Given the description of an element on the screen output the (x, y) to click on. 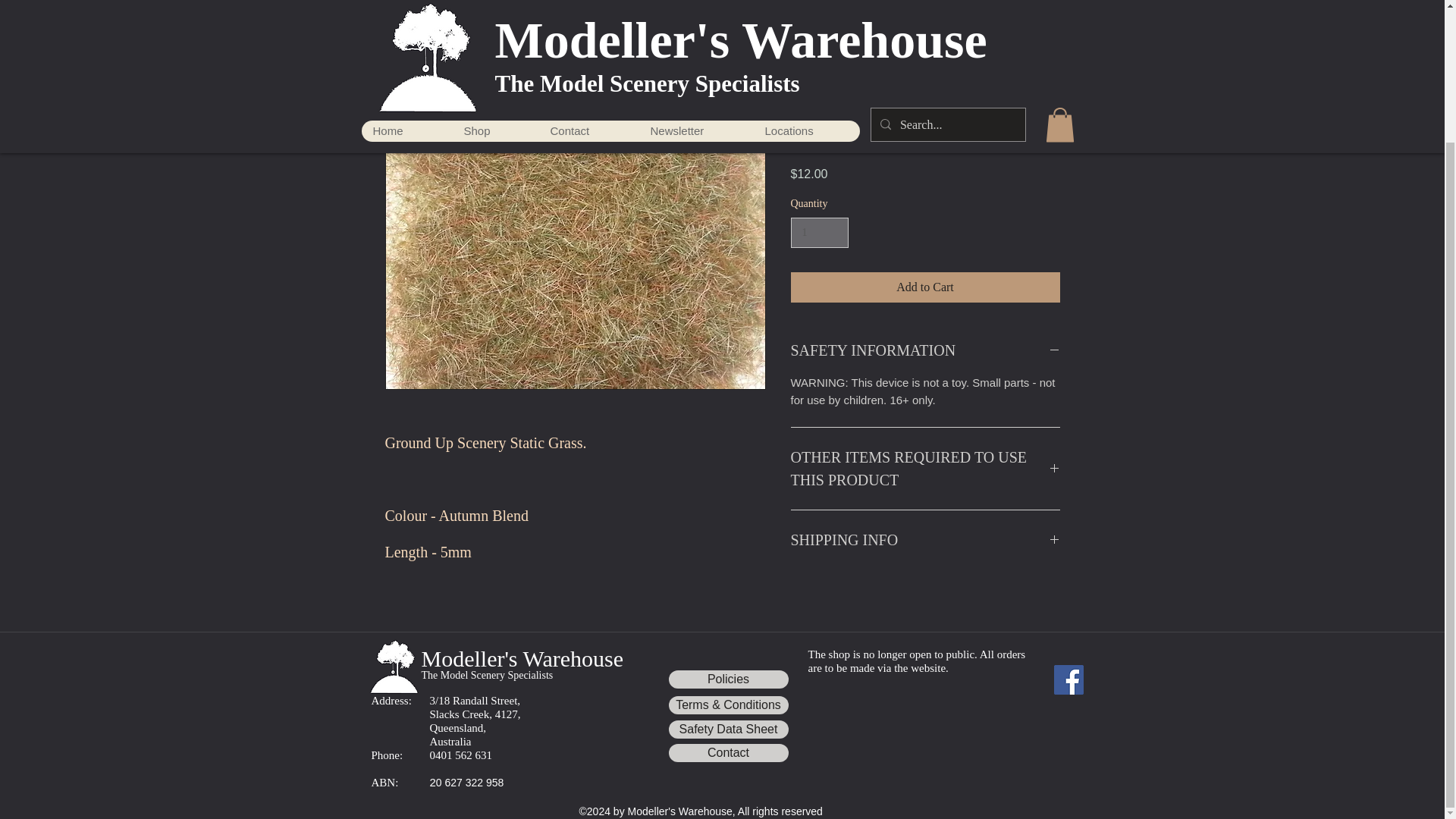
SHIPPING INFO (924, 539)
Contact (728, 752)
SAFETY INFORMATION (924, 350)
OTHER ITEMS REQUIRED TO USE THIS PRODUCT (924, 468)
Add to Cart (924, 286)
1 (818, 232)
Policies (728, 679)
Safety Data Sheet (728, 729)
